Given the description of an element on the screen output the (x, y) to click on. 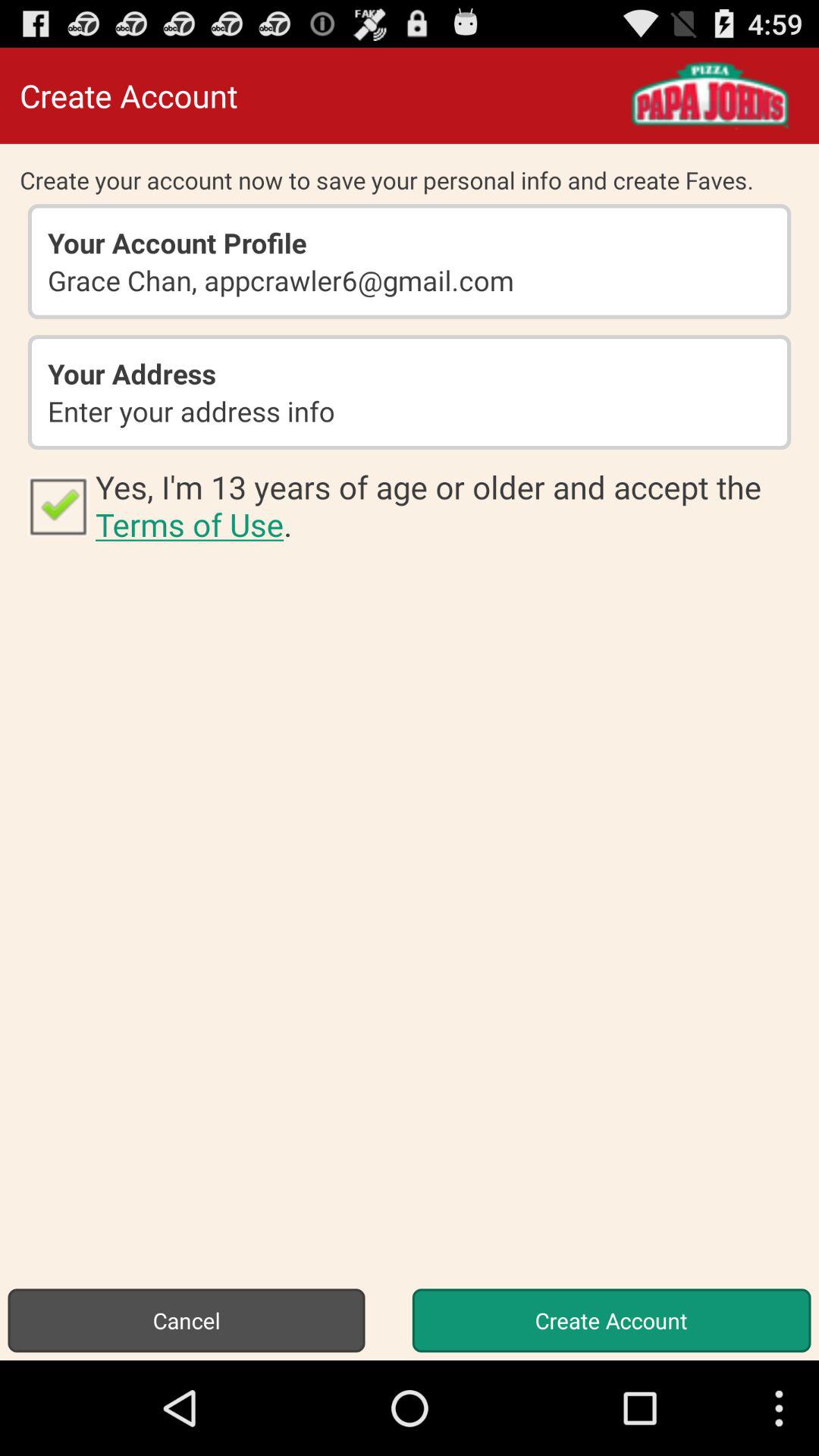
launch the button next to create account icon (186, 1320)
